Given the description of an element on the screen output the (x, y) to click on. 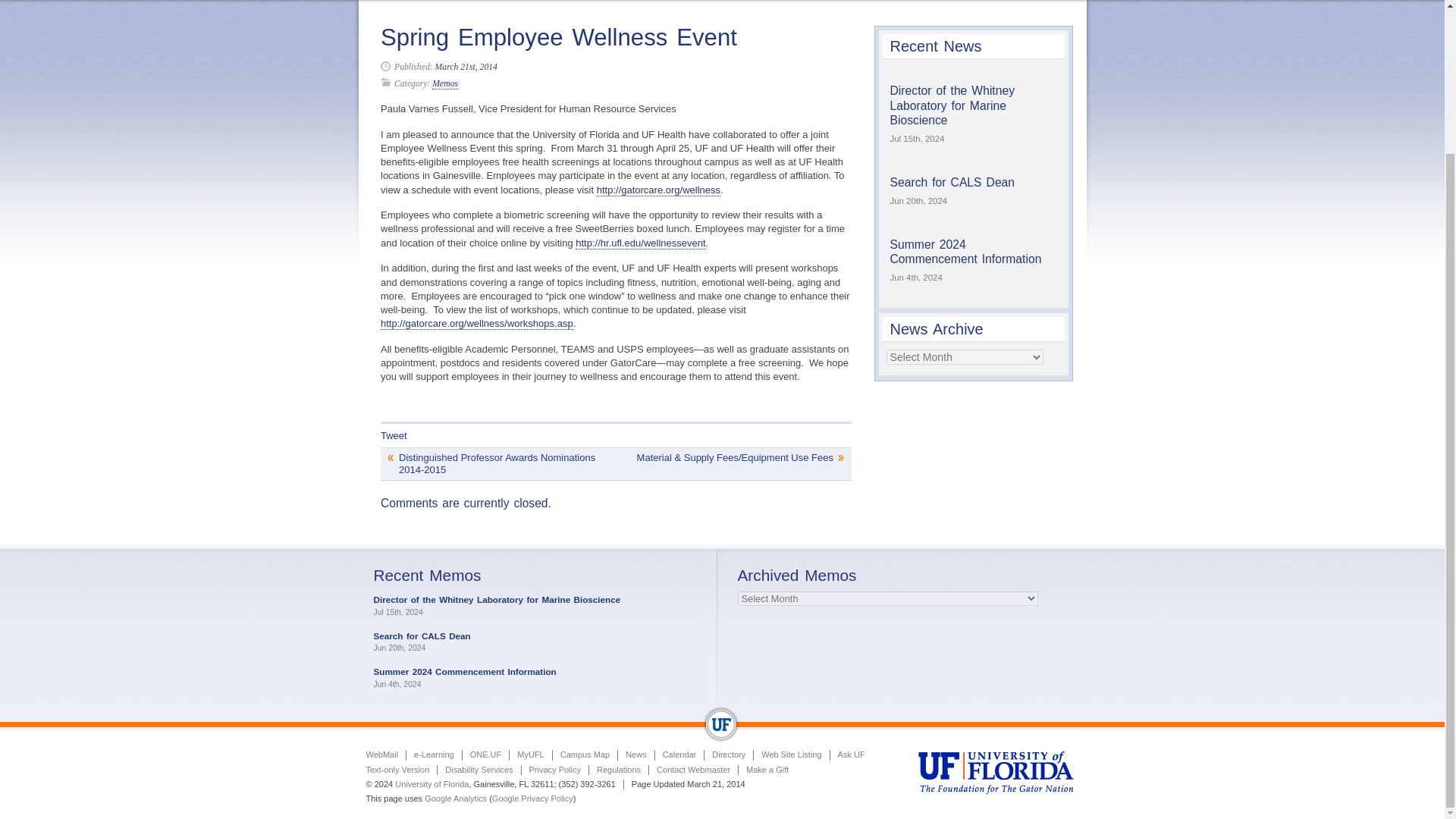
Text-only version of this website (397, 768)
